Given the description of an element on the screen output the (x, y) to click on. 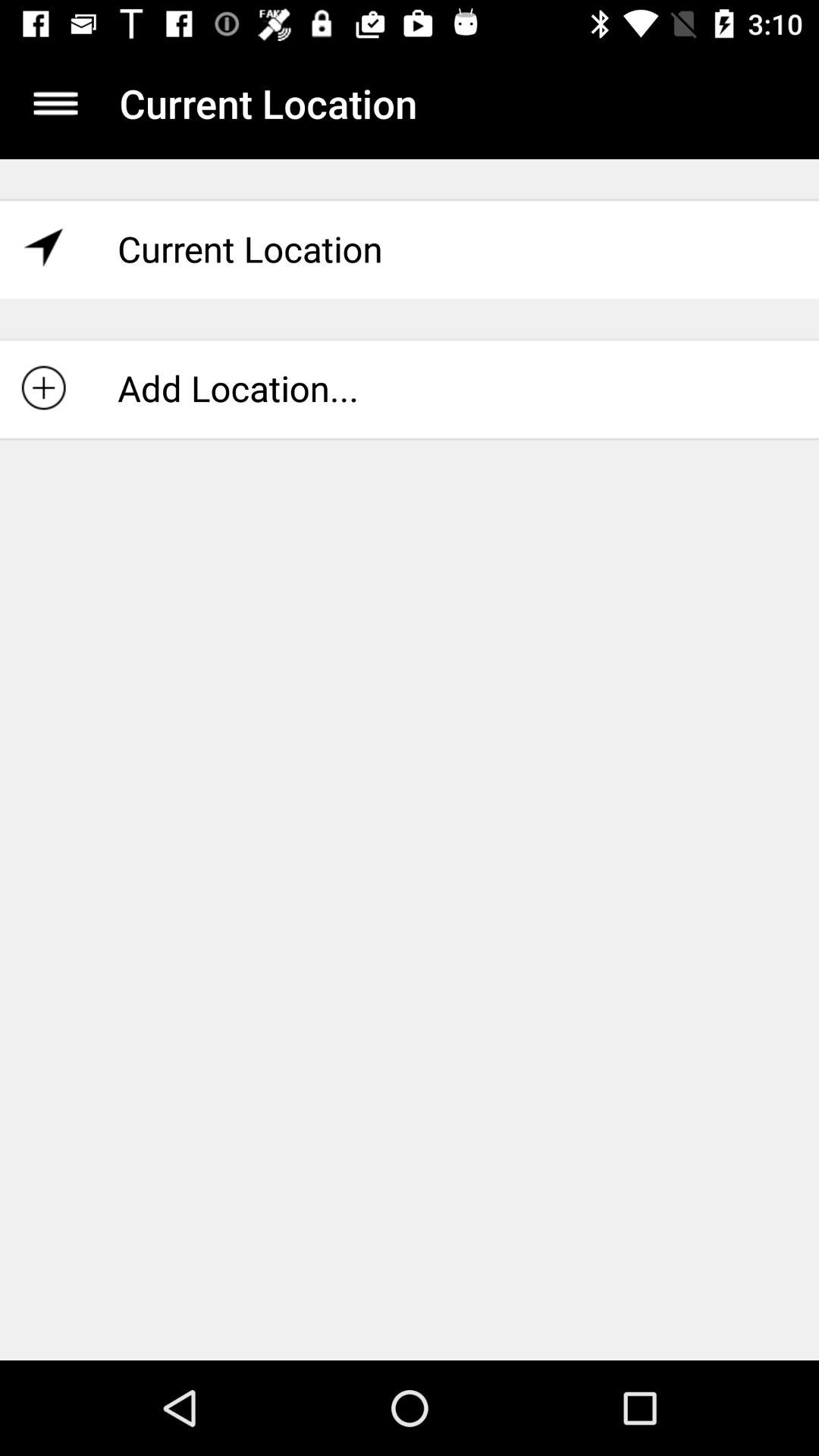
menu list (55, 103)
